Given the description of an element on the screen output the (x, y) to click on. 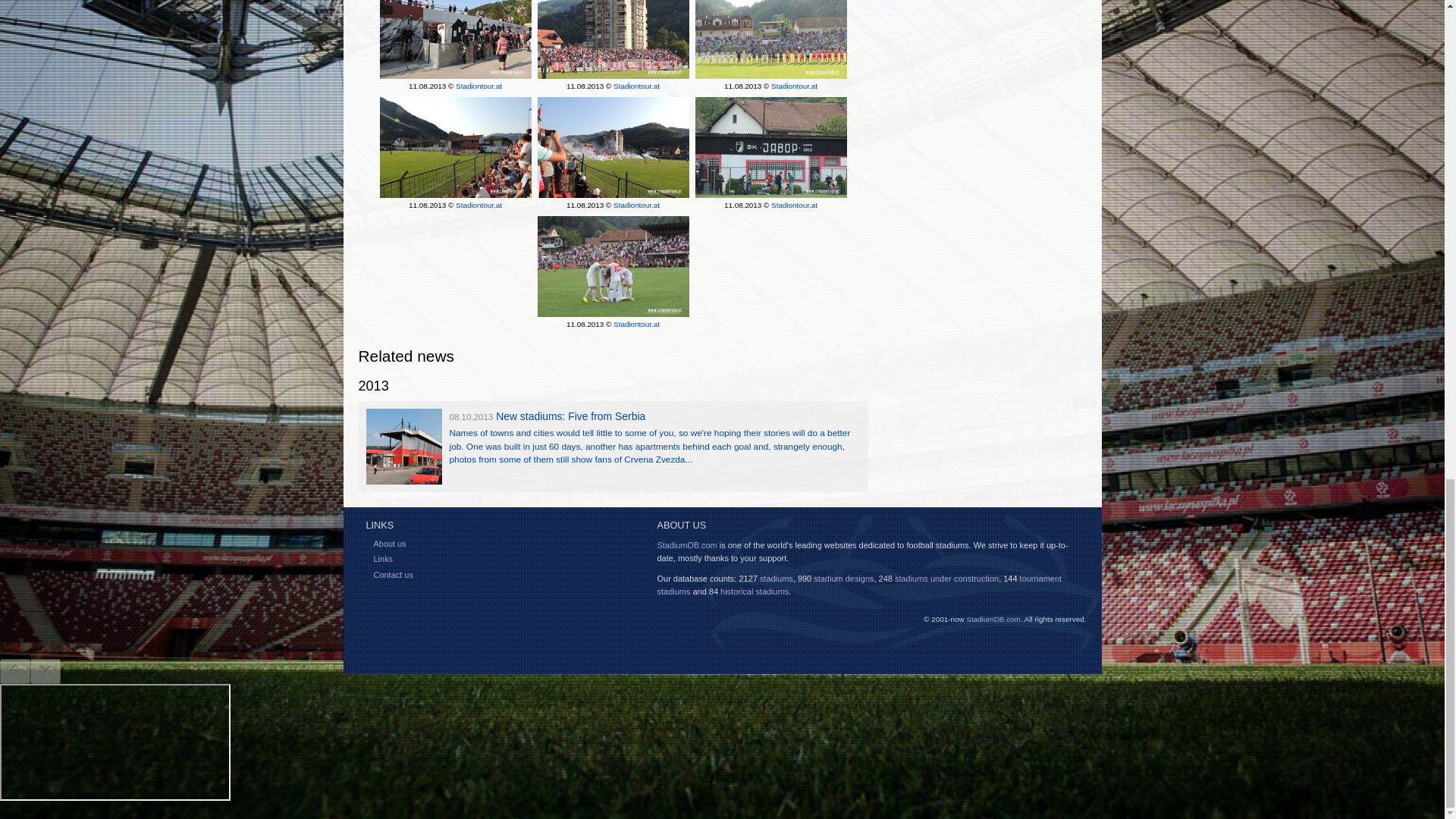
Stadion kraj Moravice: 500x750px, 72 kB (769, 40)
Stadion kraj Moravice: 500x750px, 85 kB (769, 147)
Stadion kraj Moravice: 500x750px, 85 kB (612, 40)
Stadion kraj Moravice: 500x750px, 68 kB (454, 147)
Stadion kraj Moravice: 500x750px, 70 kB (454, 40)
Stadion kraj Moravice: 500x750px, 85 kB (612, 266)
Stadion kraj Moravice: 500x750px, 63 kB (612, 147)
